Given the description of an element on the screen output the (x, y) to click on. 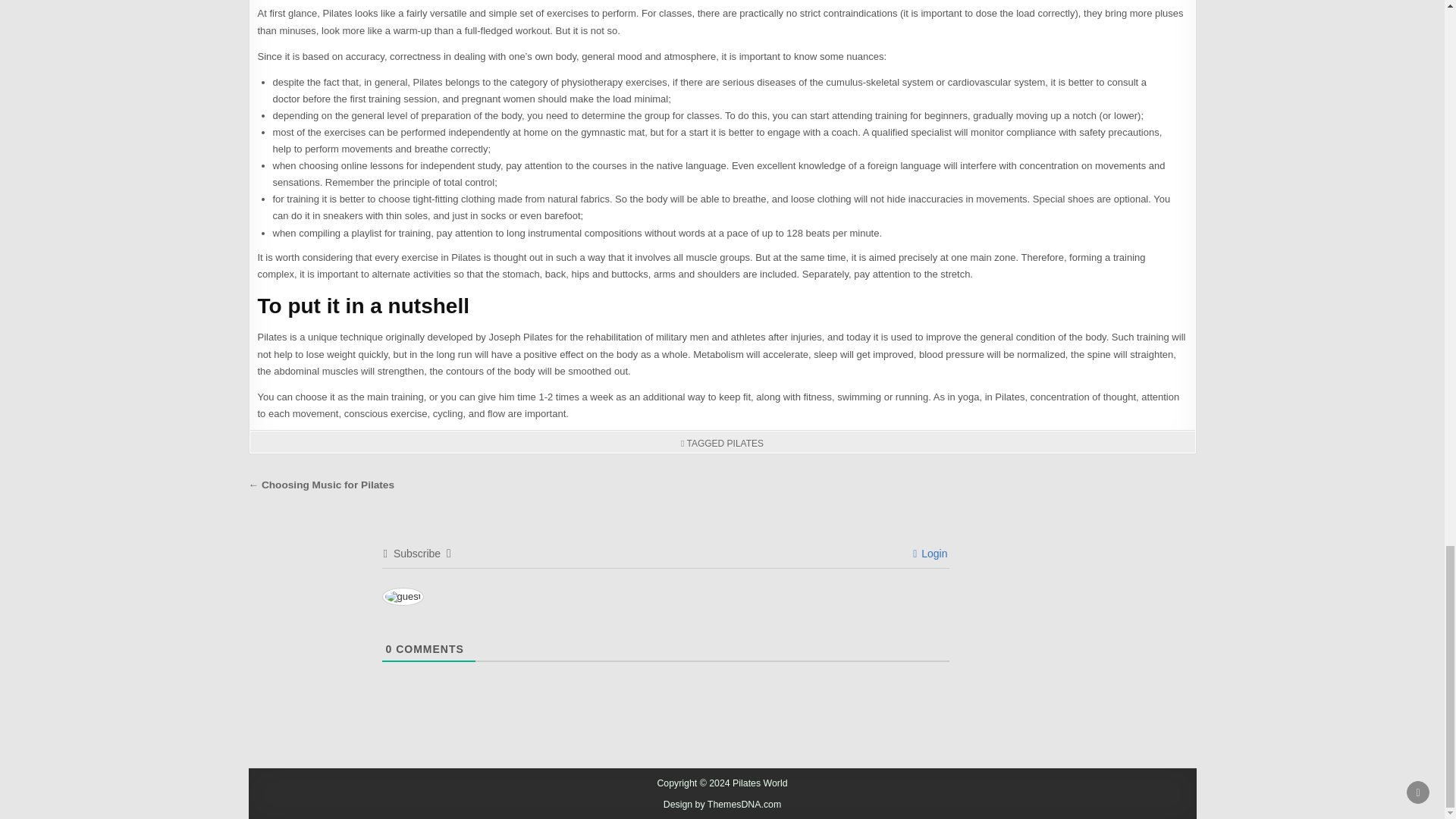
Login (929, 553)
PILATES (744, 443)
Design by ThemesDNA.com (722, 804)
